Given the description of an element on the screen output the (x, y) to click on. 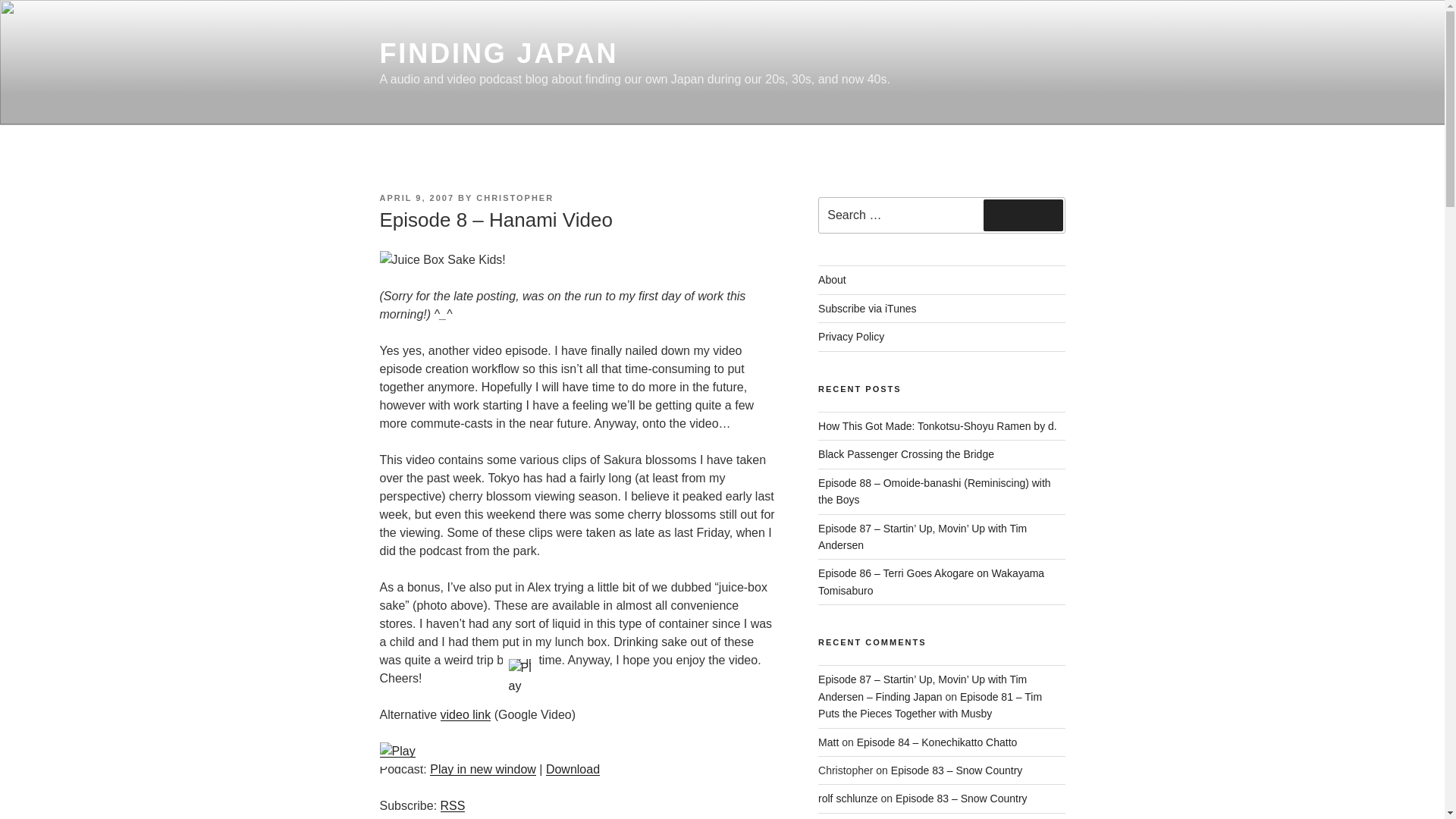
Black Passenger Crossing the Bridge (906, 453)
Play in new window (482, 768)
How This Got Made: Tonkotsu-Shoyu Ramen by d. (937, 426)
Matt (828, 742)
rolf schlunze (847, 798)
Play (519, 677)
Privacy Policy (850, 336)
About (831, 279)
RSS (453, 805)
CHRISTOPHER (514, 197)
Search (1023, 214)
Subscribe via RSS (453, 805)
video link (466, 714)
Download (572, 768)
Subscribe via iTunes (866, 308)
